Given the description of an element on the screen output the (x, y) to click on. 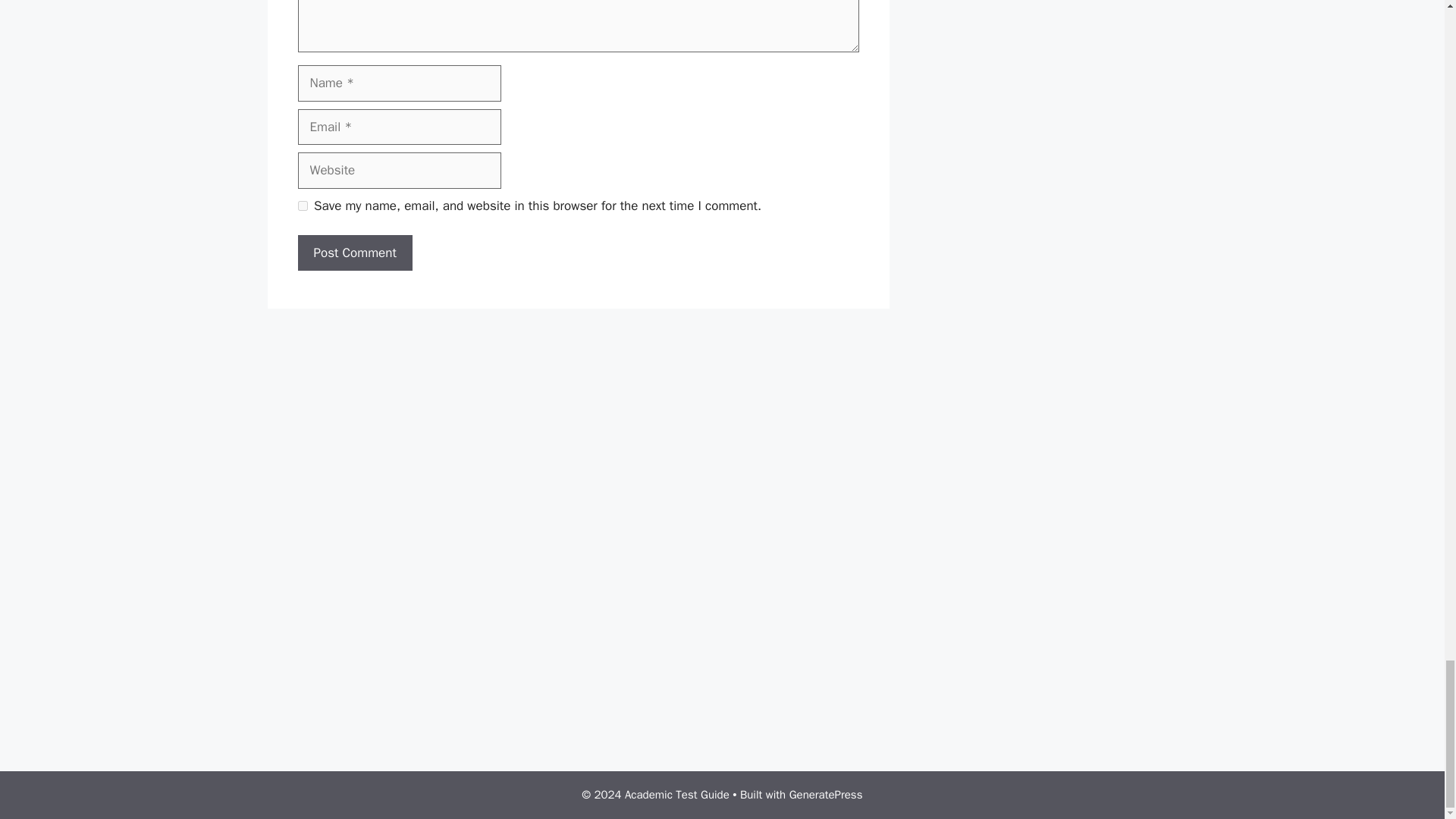
Post Comment (354, 253)
GeneratePress (826, 794)
yes (302, 205)
Post Comment (354, 253)
